Given the description of an element on the screen output the (x, y) to click on. 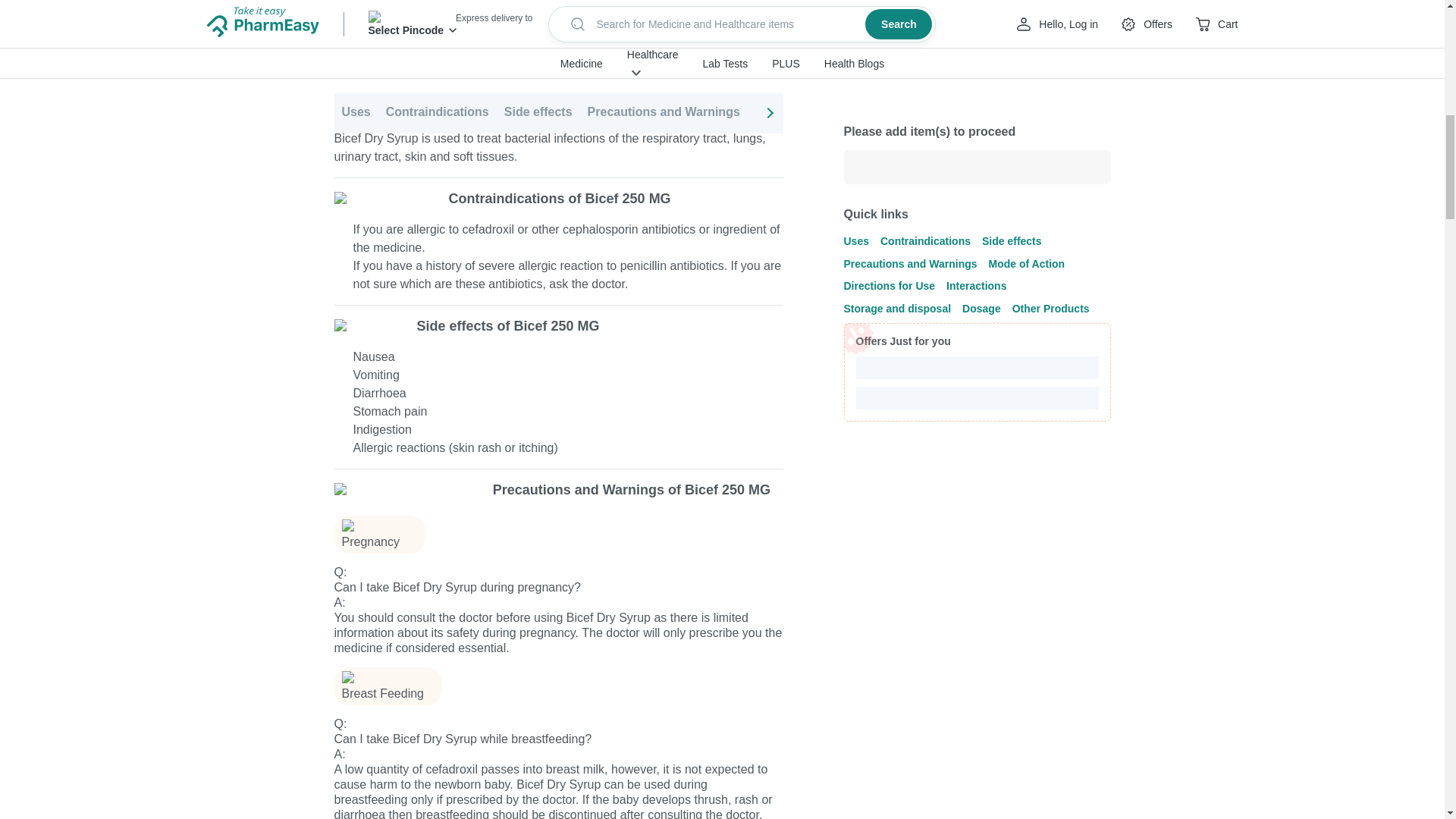
Contraindications (437, 47)
Dosage (1220, 47)
Mode of Action (799, 47)
Precautions and Warnings (663, 47)
Side effects (537, 47)
Directions for Use (909, 47)
Storage and disposal (1121, 47)
Interactions (1011, 47)
Other Products (1302, 47)
Uses (355, 47)
